Given the description of an element on the screen output the (x, y) to click on. 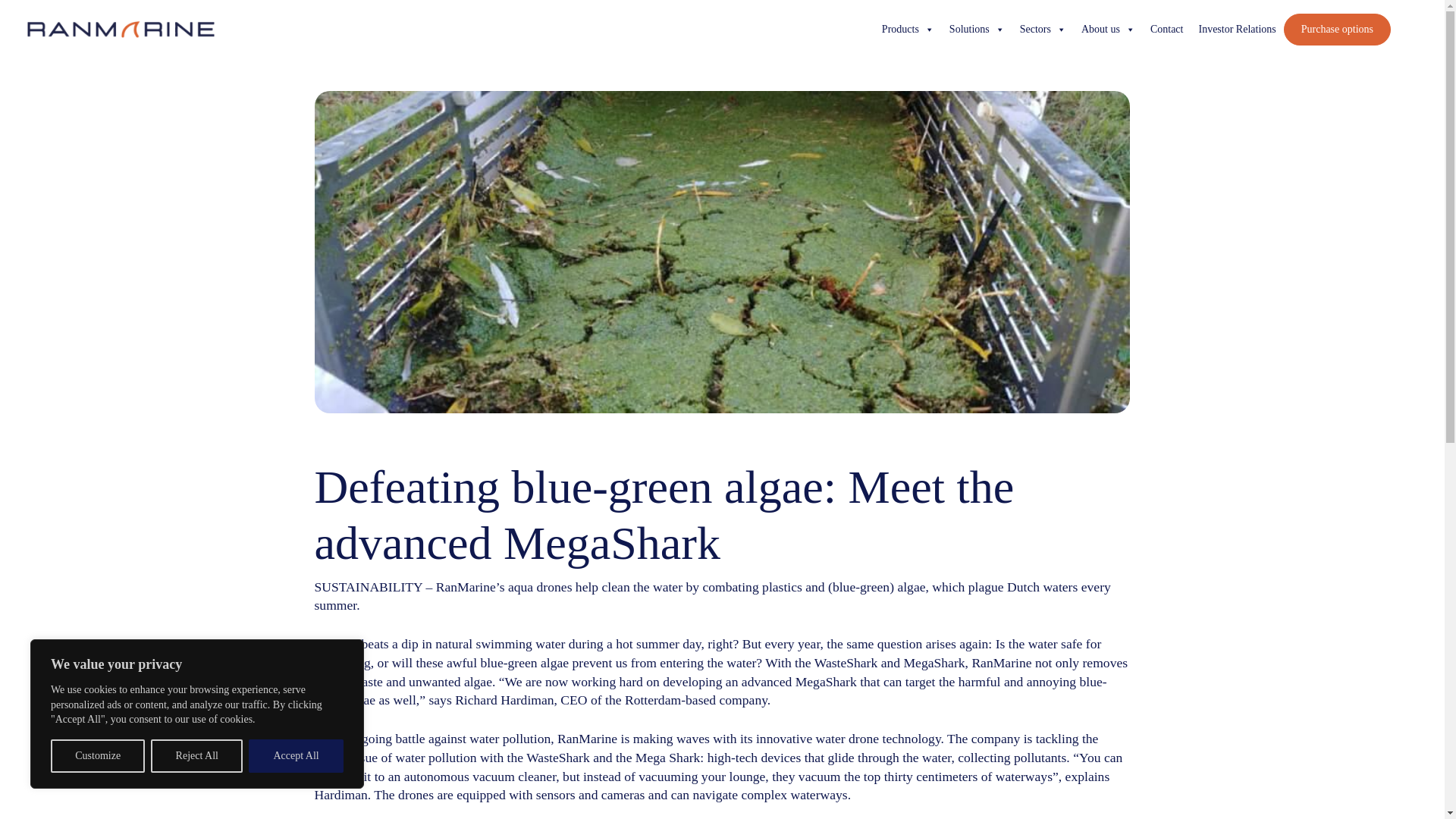
Products (908, 29)
Solutions (976, 29)
Reject All (197, 756)
Accept All (295, 756)
Customize (97, 756)
Sectors (1042, 29)
